Given the description of an element on the screen output the (x, y) to click on. 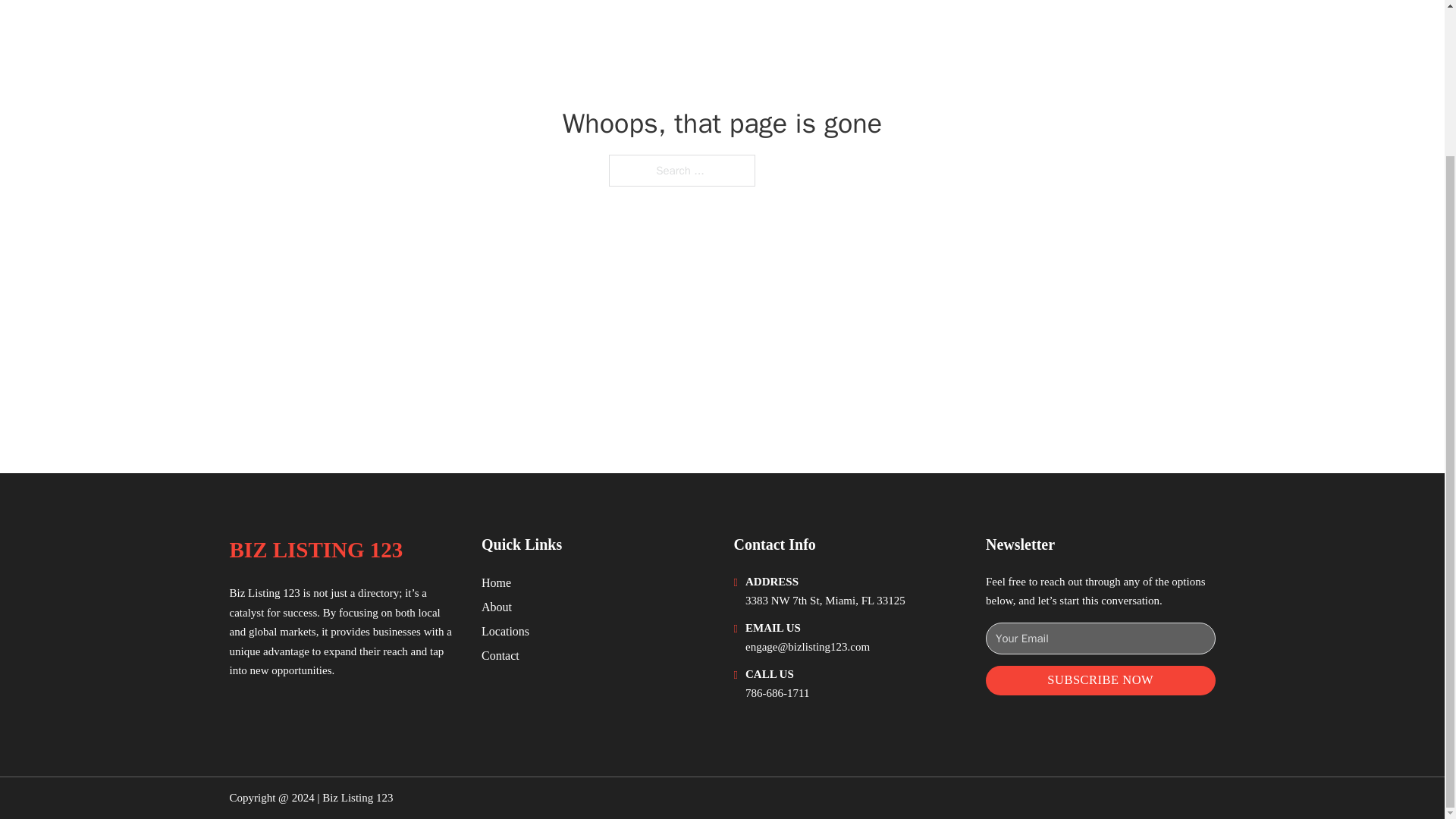
About (496, 607)
BIZ LISTING 123 (315, 549)
SUBSCRIBE NOW (1100, 680)
786-686-1711 (777, 693)
Home (496, 582)
Locations (505, 630)
Contact (500, 655)
